Given the description of an element on the screen output the (x, y) to click on. 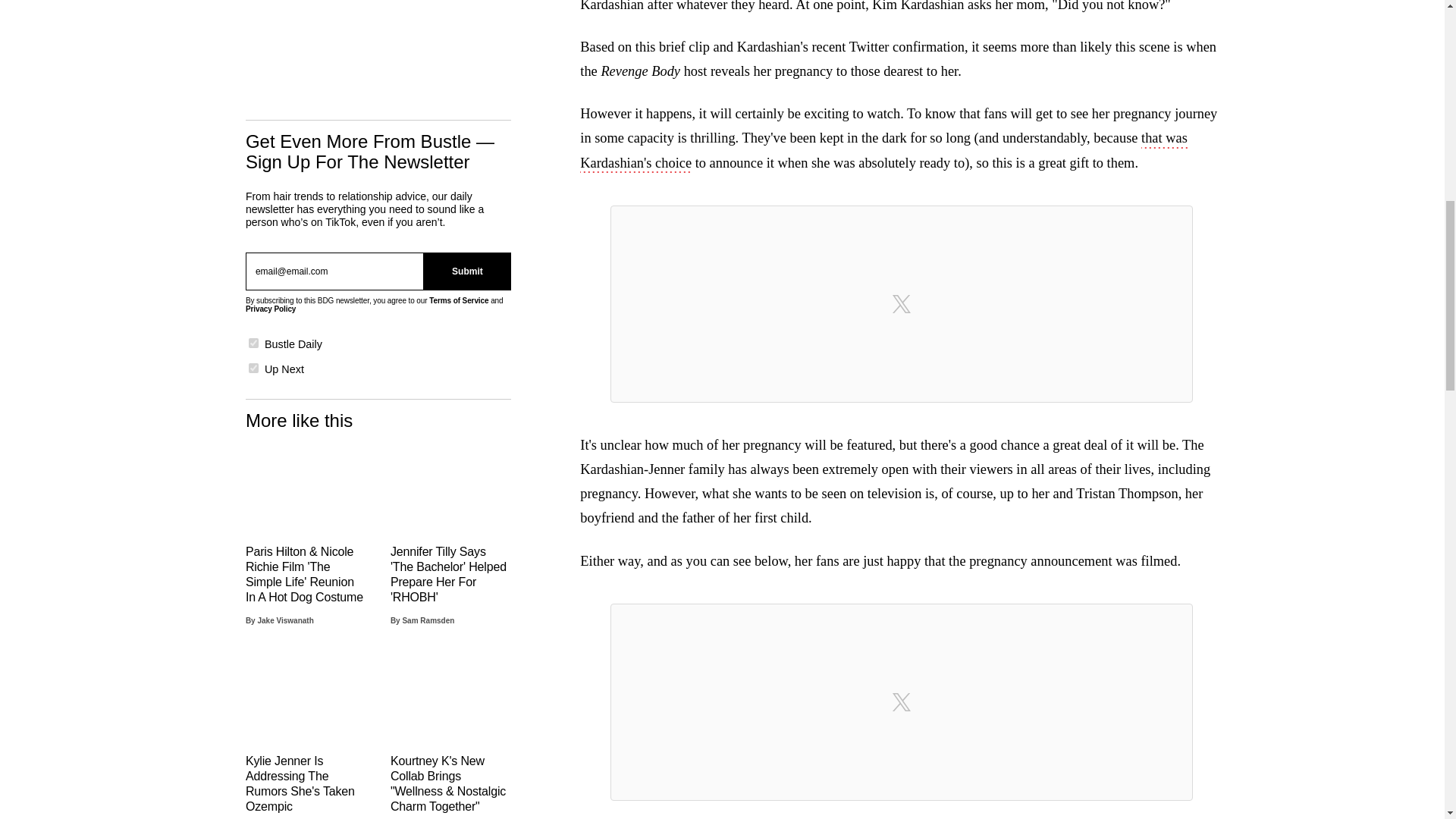
Submit (467, 271)
Privacy Policy (270, 308)
Terms of Service (458, 300)
that was Kardashian's choice (883, 151)
